Given the description of an element on the screen output the (x, y) to click on. 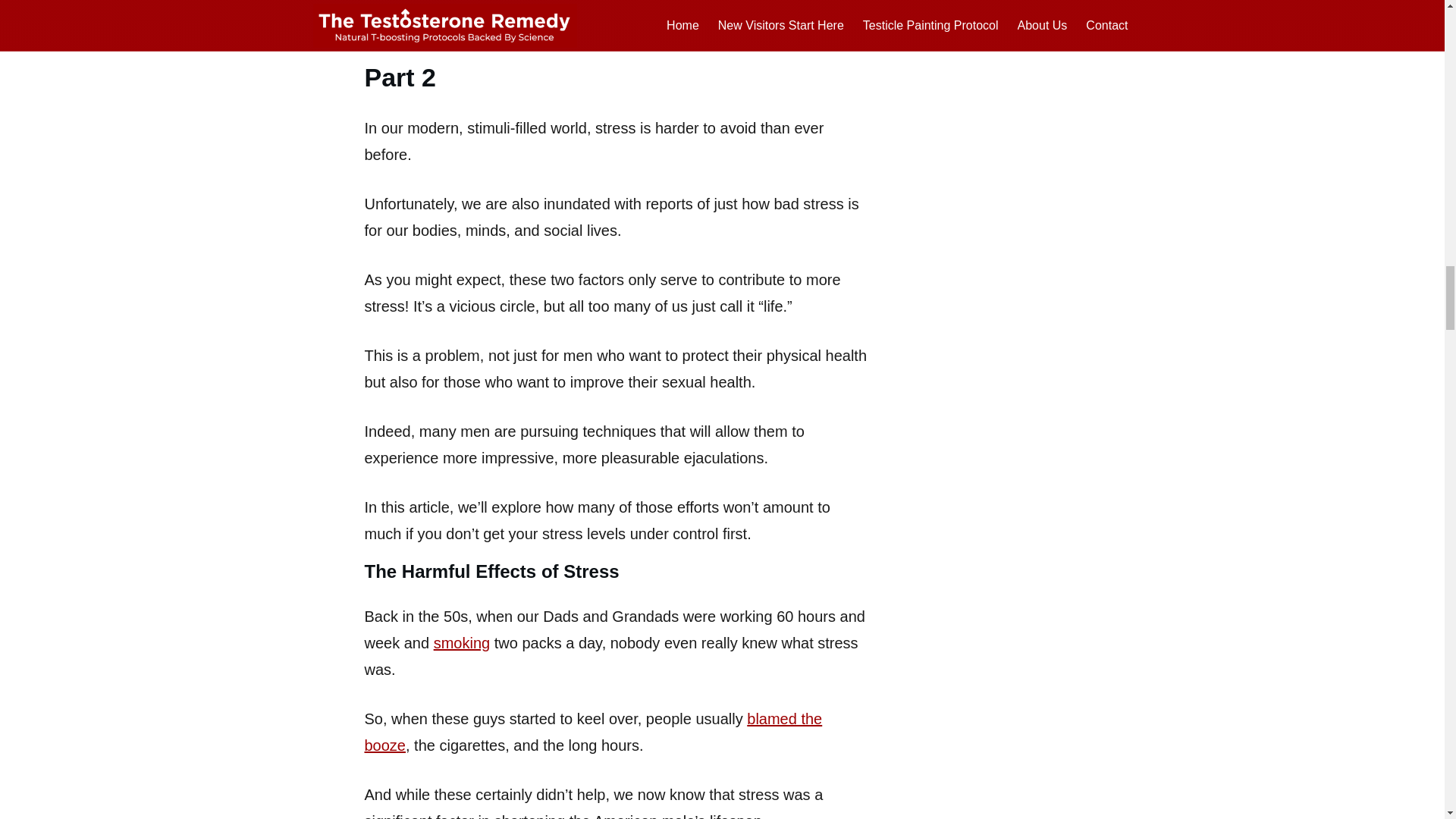
blamed the booze (593, 731)
smoking (461, 642)
